Given the description of an element on the screen output the (x, y) to click on. 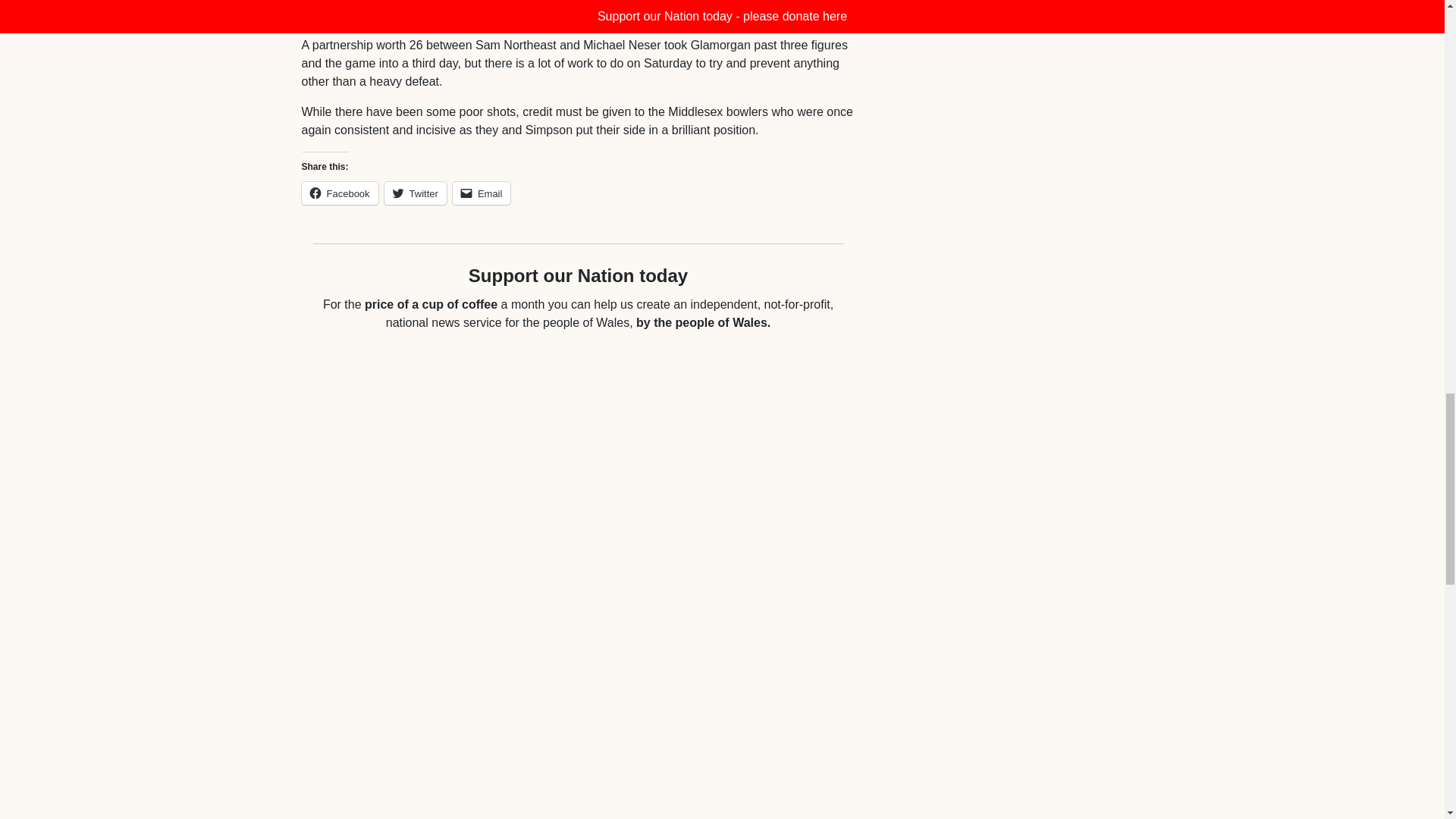
Click to email a link to a friend (481, 192)
Click to share on Twitter (415, 192)
Twitter (415, 192)
Email (481, 192)
Click to share on Facebook (339, 192)
Facebook (339, 192)
